Given the description of an element on the screen output the (x, y) to click on. 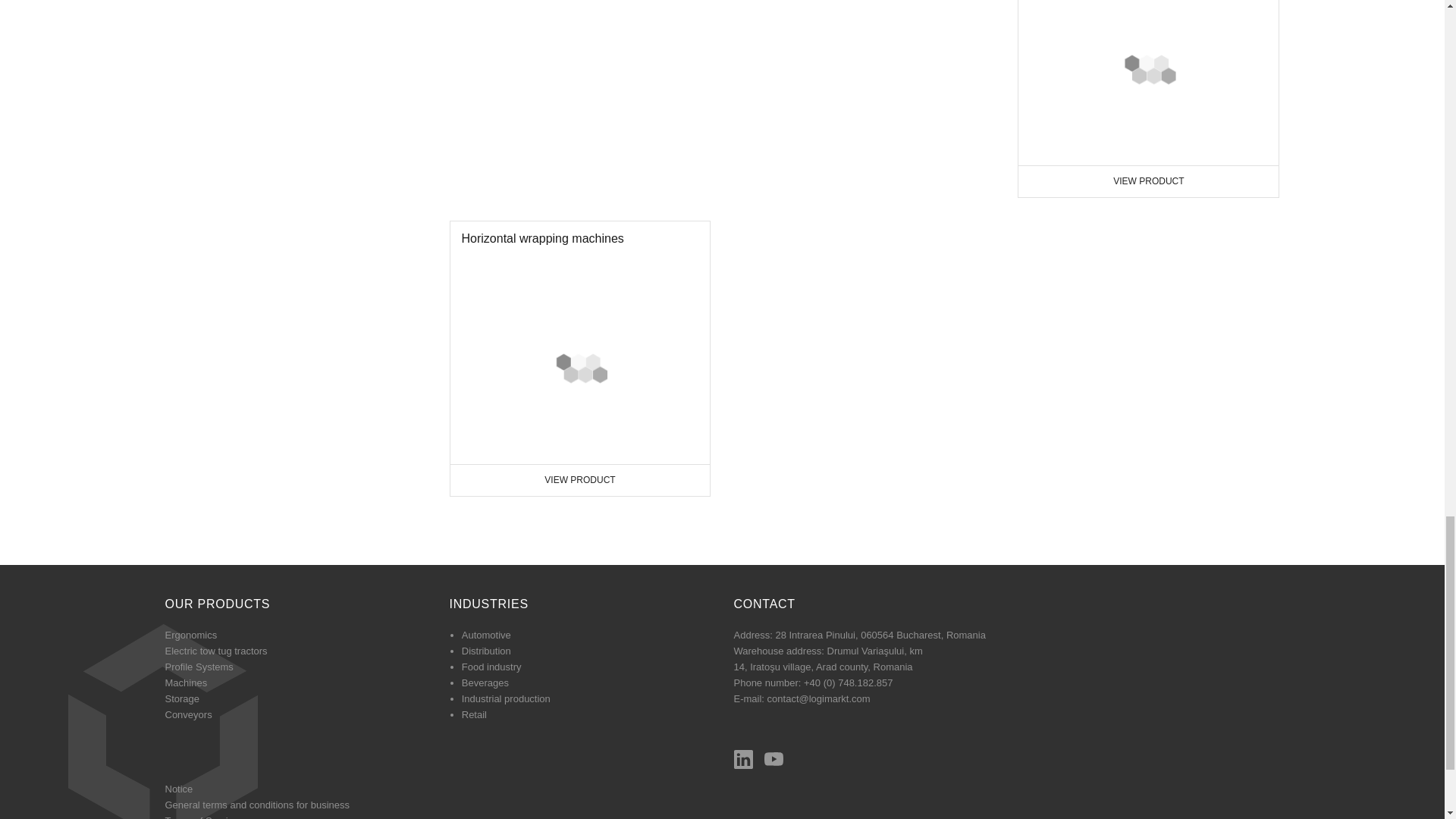
Presa verticala automata pentru deseuri (1148, 99)
Electric tow tug tractors (1147, 82)
Machines (216, 650)
Profile Systems (579, 358)
Ergonomics (186, 682)
